Given the description of an element on the screen output the (x, y) to click on. 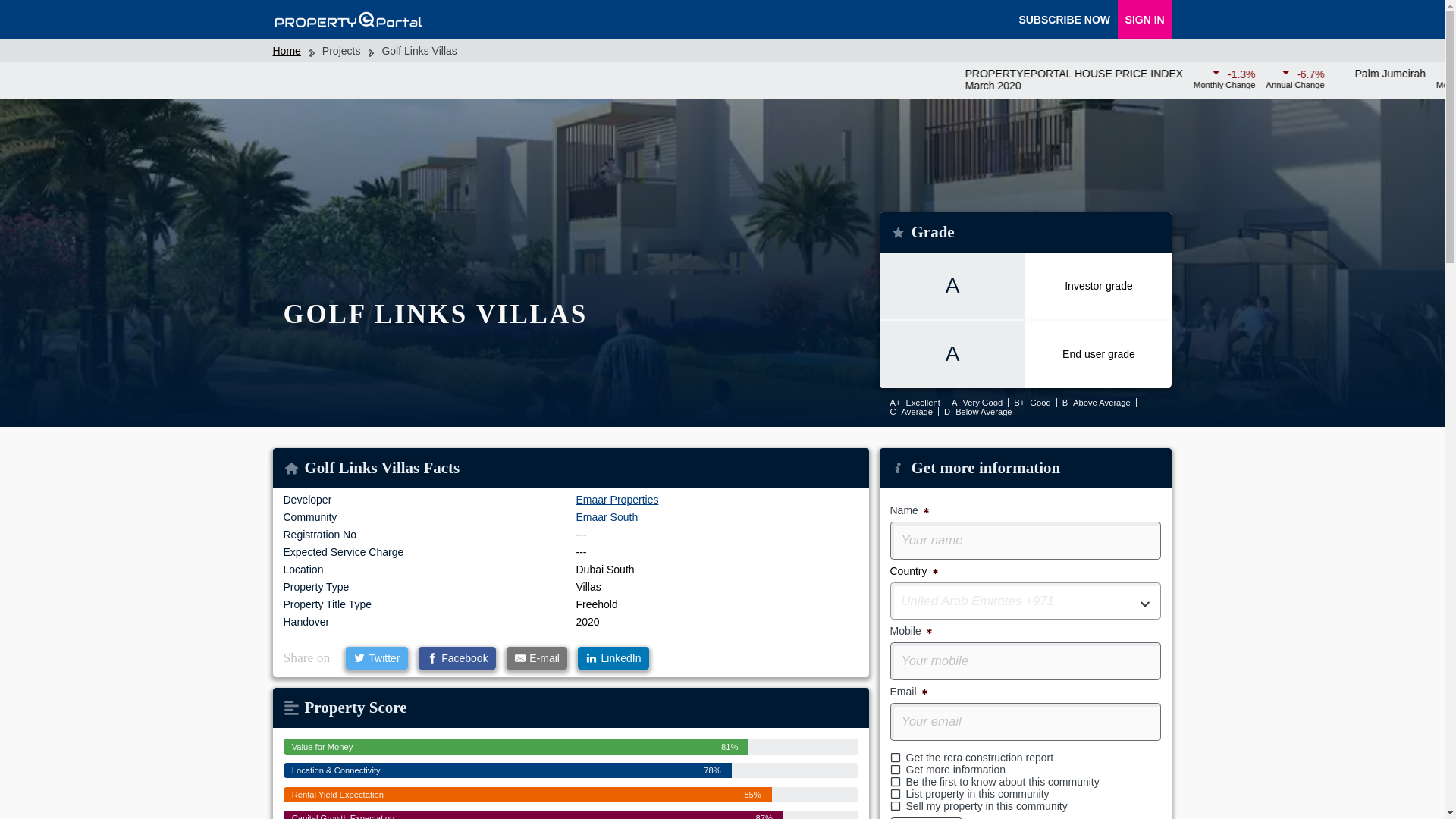
SIGN IN (1145, 19)
Submit (925, 818)
Twitter (376, 658)
Share on E-mail (536, 658)
Facebook (457, 658)
LinkedIn (613, 658)
E-mail (536, 658)
Sign in (1145, 19)
Share on Facebook (457, 658)
Emaar Properties (617, 499)
